Given the description of an element on the screen output the (x, y) to click on. 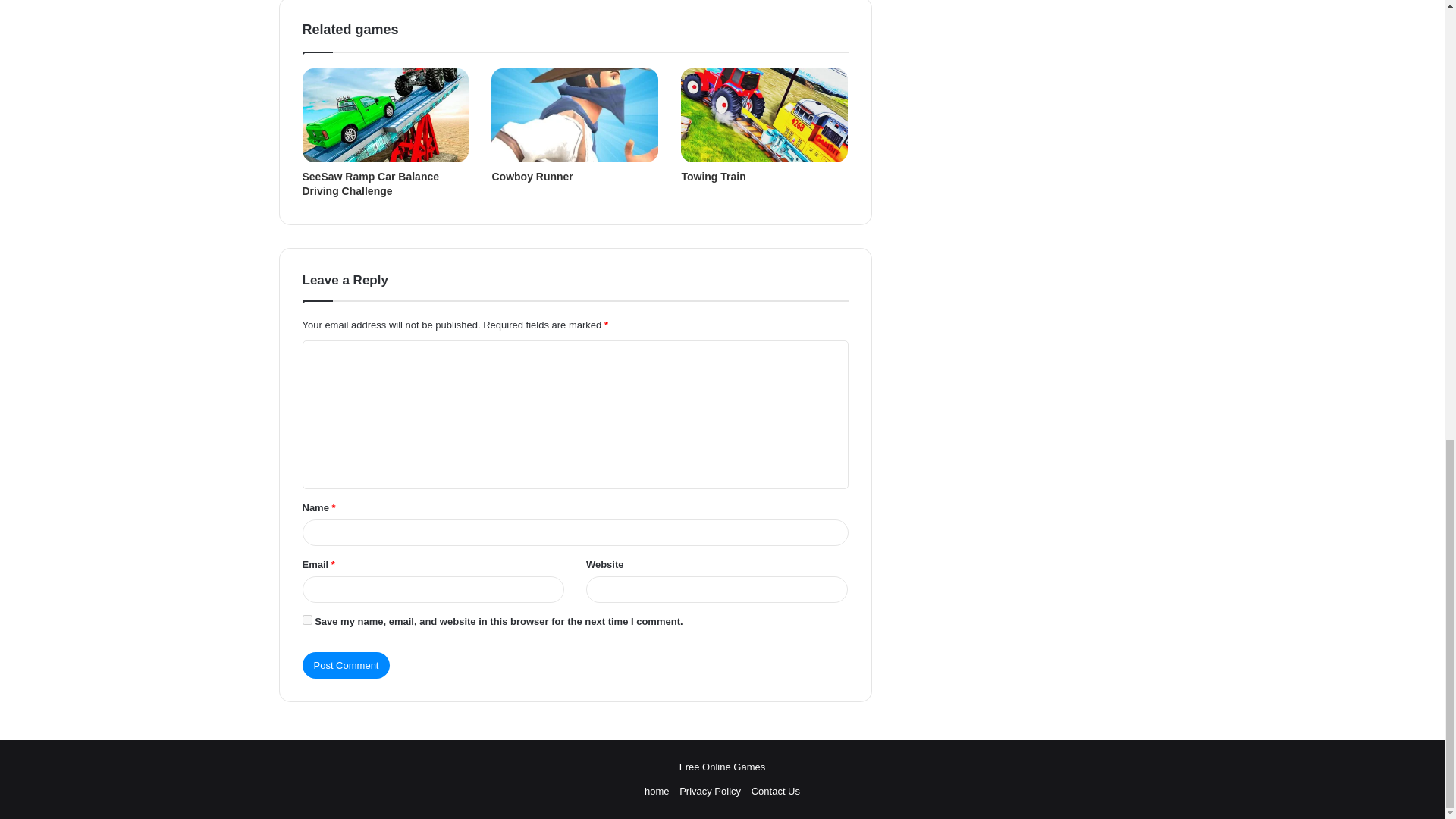
Privacy Policy (710, 790)
yes (306, 619)
home (657, 790)
Post Comment (345, 664)
Towing Train (713, 176)
Cowboy Runner (532, 176)
Post Comment (345, 664)
SeeSaw Ramp Car Balance Driving Challenge (370, 183)
